Given the description of an element on the screen output the (x, y) to click on. 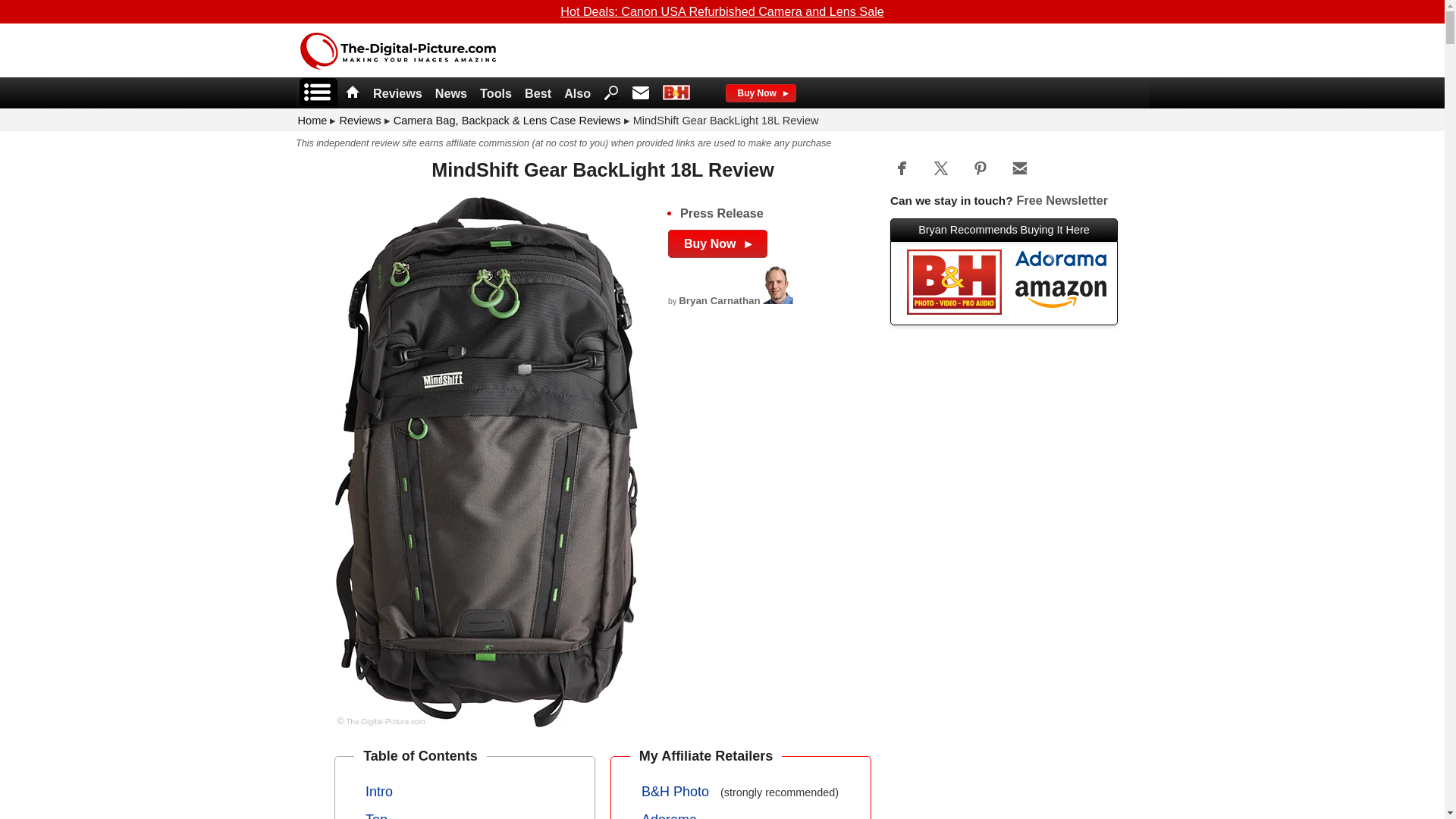
The Best Canon Lenses (537, 93)
Tools (496, 93)
The-Digital-Picture.com Camera and Lens Reviews (397, 64)
Hot Deals: Canon USA Refurbished Camera and Lens Sale (721, 11)
Home (352, 91)
Search this Site (611, 91)
Home (348, 94)
Reviews (397, 93)
Review Menu (318, 91)
Mirrorless and DSLR Camera and Lens Reviews (397, 93)
News (451, 93)
Additional Camera and Lens Related Features (577, 93)
